Given the description of an element on the screen output the (x, y) to click on. 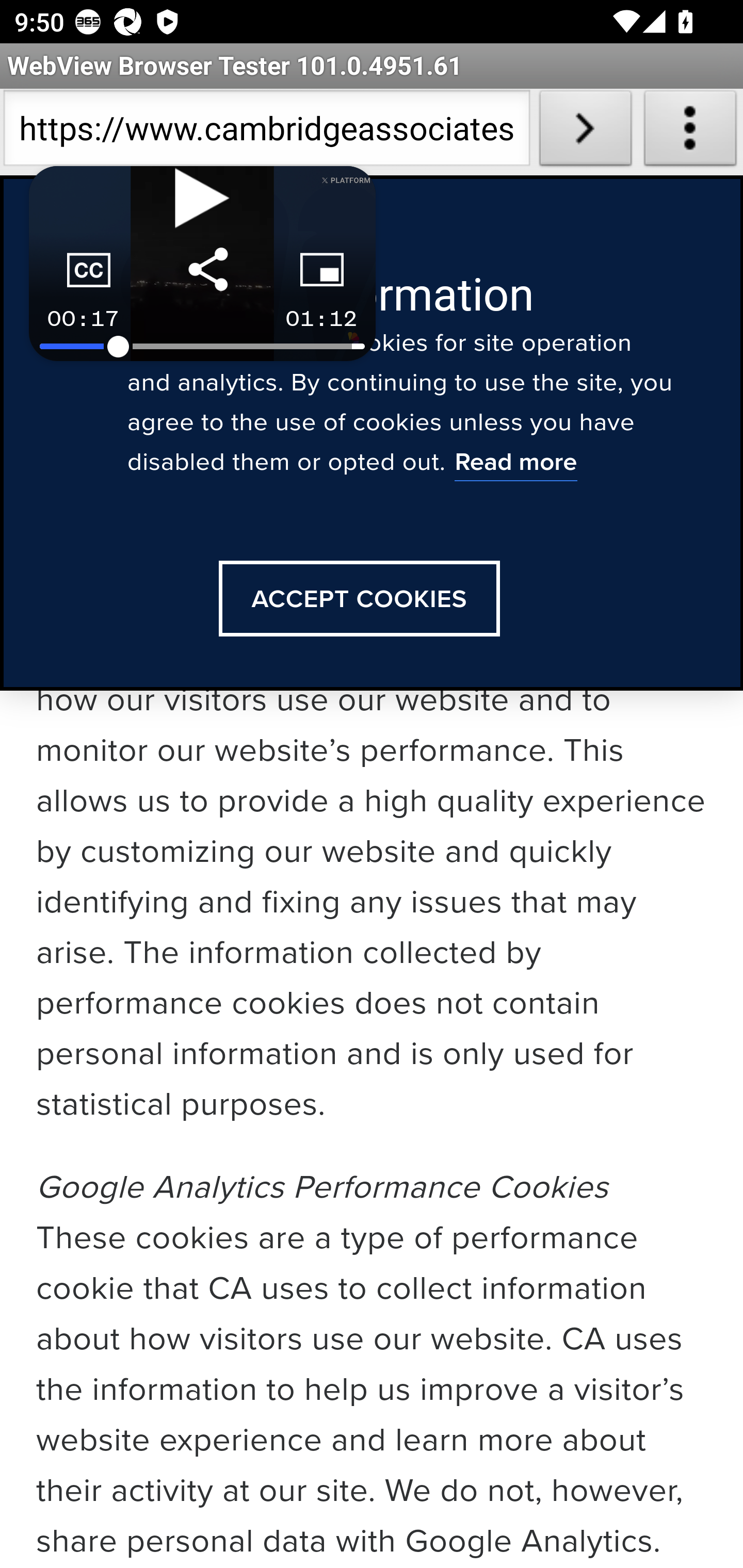
Load URL (585, 132)
About WebView (690, 132)
Read more (515, 464)
ACCEPT COOKIES (359, 599)
